Given the description of an element on the screen output the (x, y) to click on. 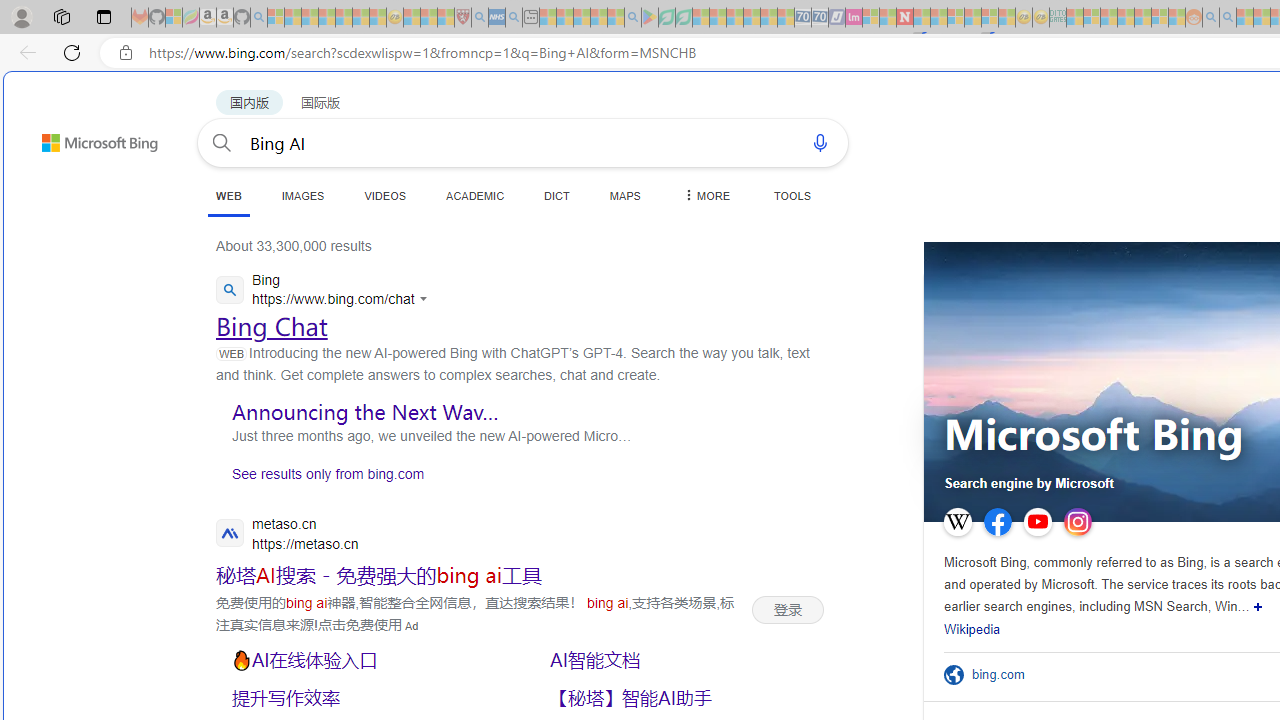
Dropdown Menu (705, 195)
WEB (228, 196)
Latest Politics News & Archive | Newsweek.com - Sleeping (904, 17)
Bing (326, 291)
Robert H. Shmerling, MD - Harvard Health - Sleeping (462, 17)
Jobs - lastminute.com Investor Portal - Sleeping (853, 17)
Recipes - MSN - Sleeping (411, 17)
